Given the description of an element on the screen output the (x, y) to click on. 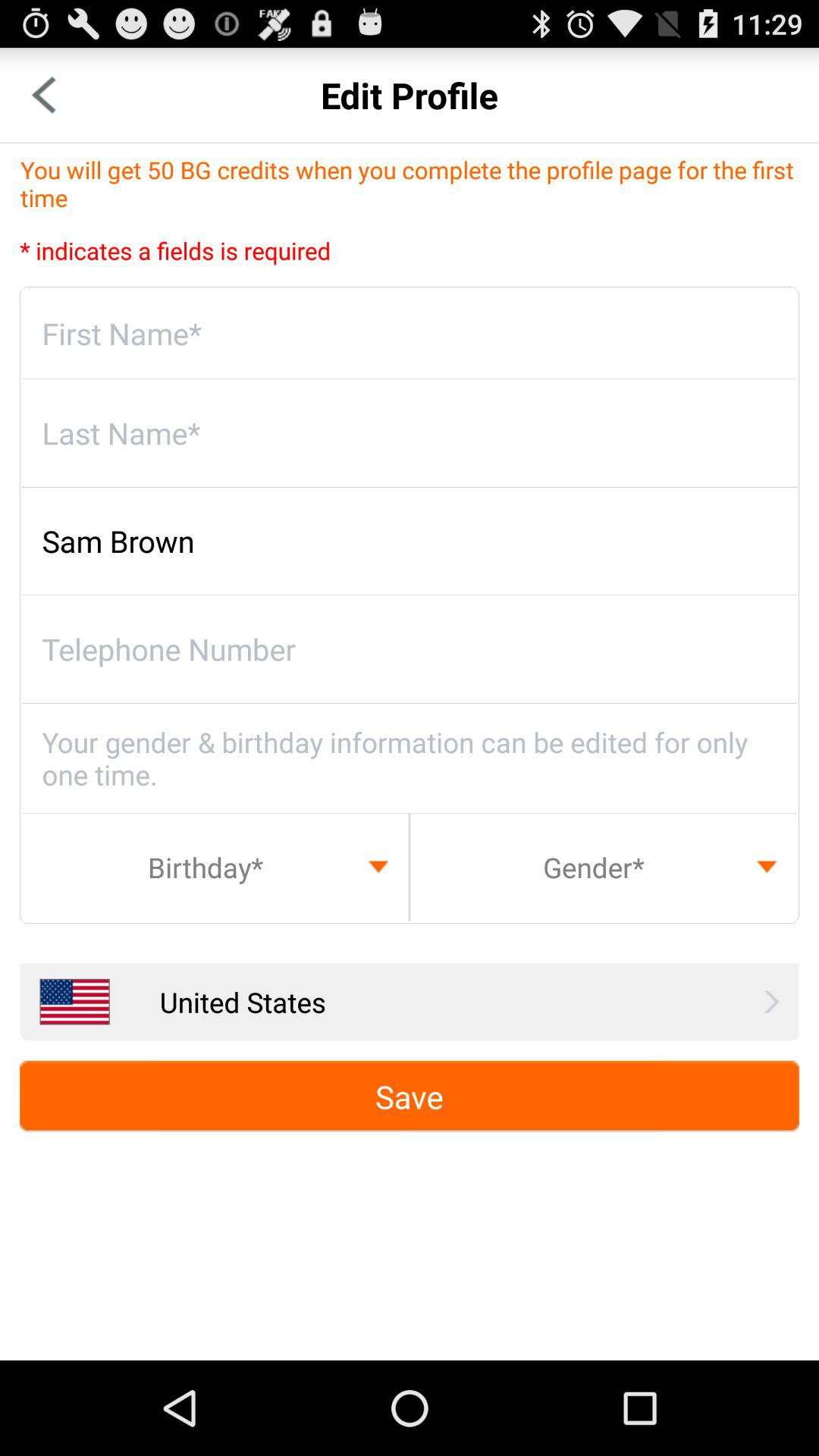
enter your telephone number (409, 648)
